Given the description of an element on the screen output the (x, y) to click on. 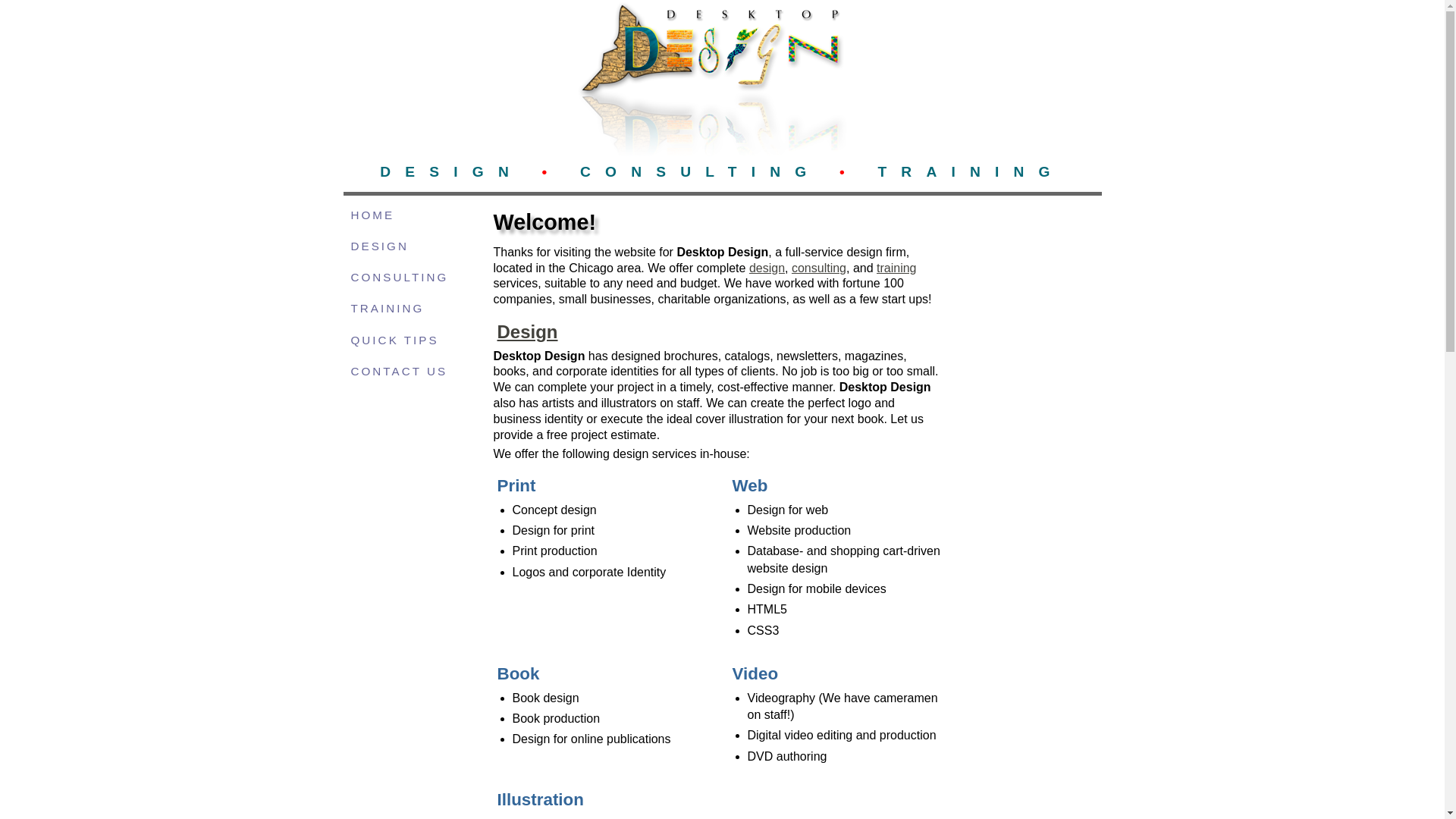
HOME Element type: text (409, 214)
consulting Element type: text (818, 267)
TRAINING Element type: text (409, 308)
CONTACT US Element type: text (409, 370)
CONSULTING Element type: text (409, 276)
Design Element type: text (527, 331)
DESIGN Element type: text (409, 245)
design Element type: text (766, 267)
training Element type: text (896, 267)
QUICK TIPS Element type: text (409, 339)
